Given the description of an element on the screen output the (x, y) to click on. 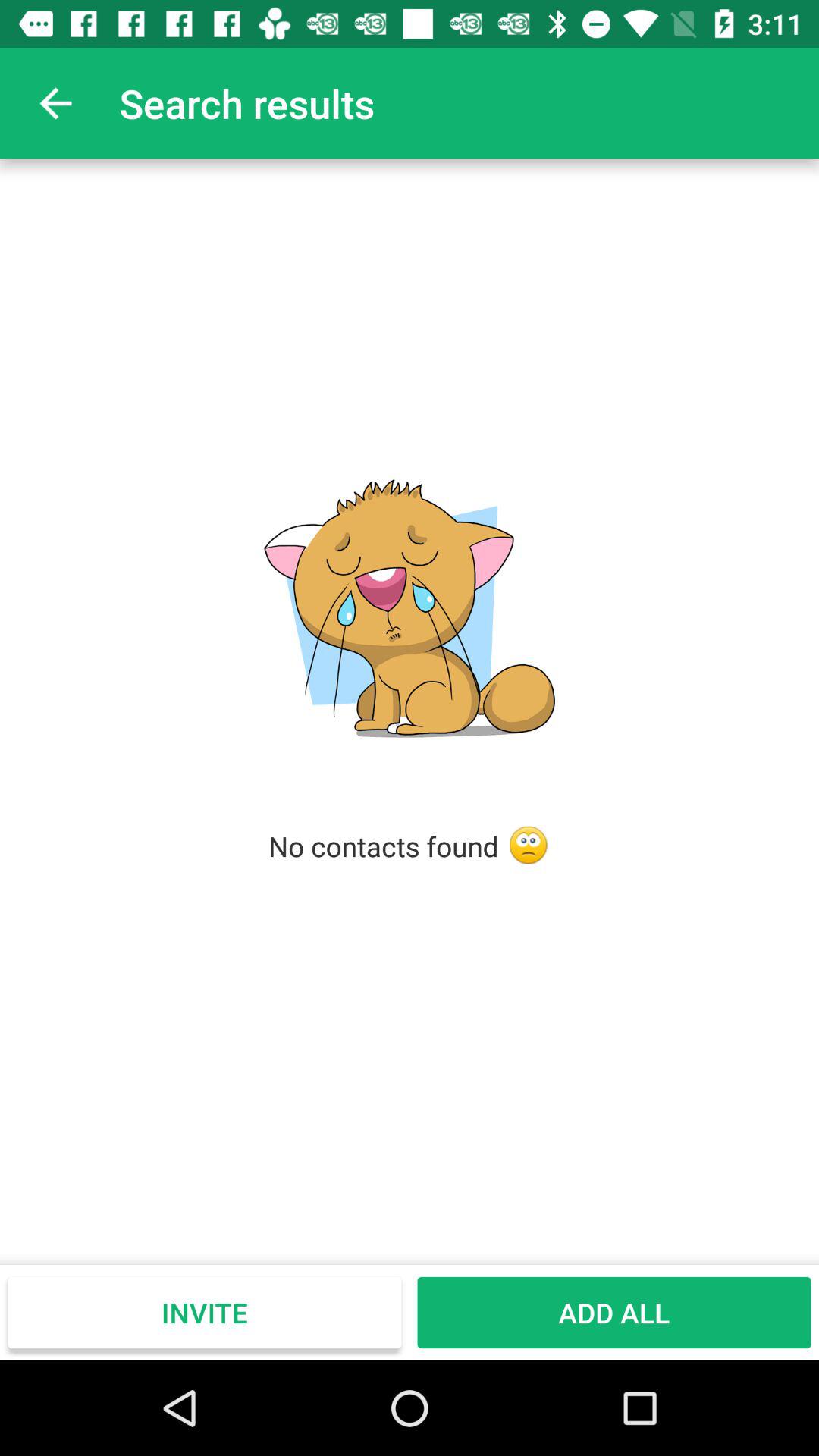
tap app to the left of search results icon (55, 103)
